Given the description of an element on the screen output the (x, y) to click on. 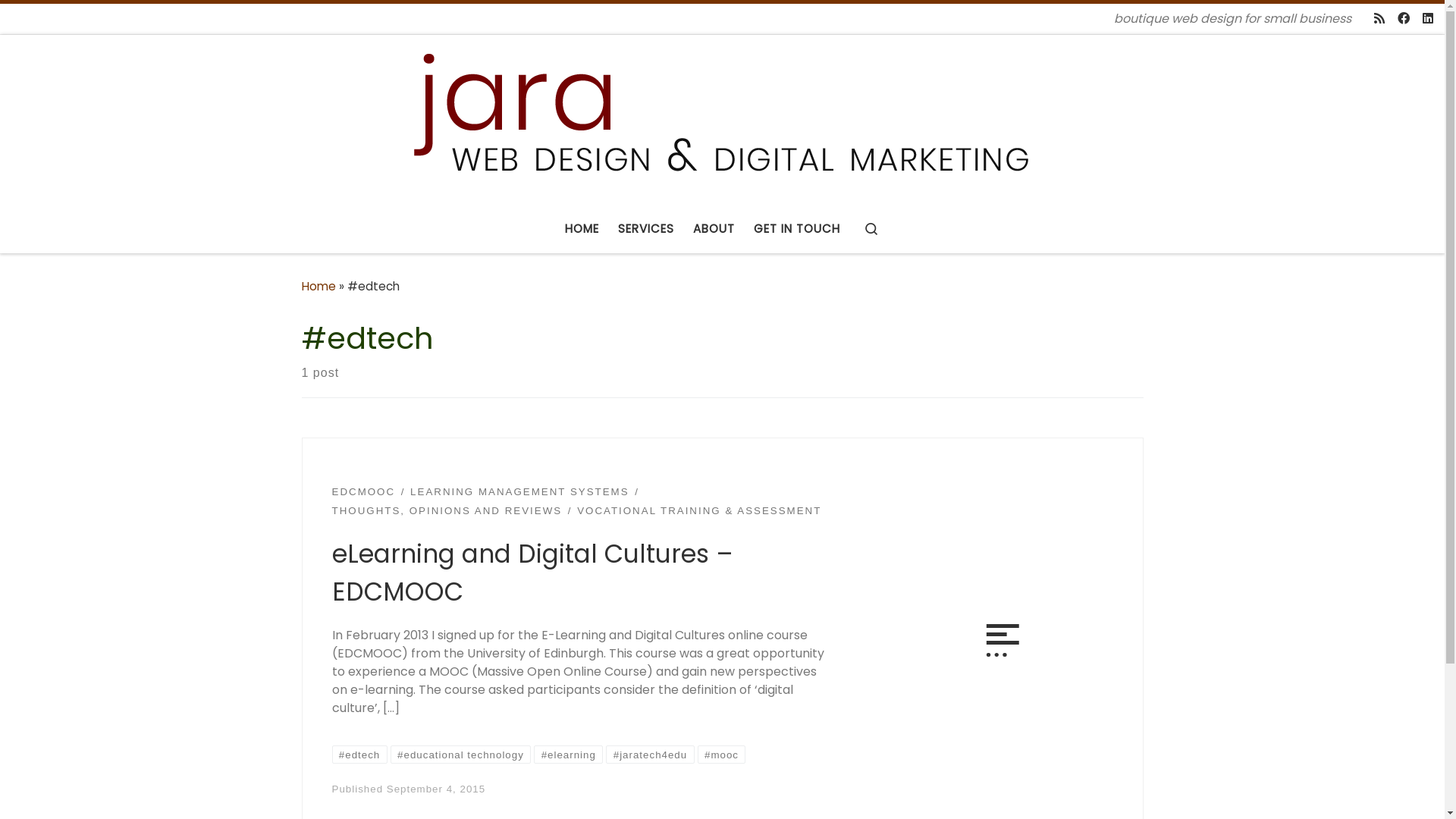
THOUGHTS, OPINIONS AND REVIEWS Element type: text (447, 511)
#mooc Element type: text (721, 754)
ABOUT Element type: text (714, 228)
GET IN TOUCH Element type: text (797, 228)
#educational technology Element type: text (460, 754)
Follow me on Facebook Element type: hover (1403, 18)
Subscribe to my rss feed Element type: hover (1379, 18)
September 4, 2015 Element type: text (435, 788)
EDCMOOC Element type: text (363, 492)
Skip to content Element type: text (66, 23)
SERVICES Element type: text (646, 228)
HOME Element type: text (582, 228)
Search Element type: text (871, 229)
Home Element type: text (318, 286)
LEARNING MANAGEMENT SYSTEMS Element type: text (519, 492)
#elearning Element type: text (567, 754)
#edtech Element type: text (359, 754)
VOCATIONAL TRAINING & ASSESSMENT Element type: text (699, 511)
Follow me on LinkedIn Element type: hover (1427, 18)
#jaratech4edu Element type: text (649, 754)
